Given the description of an element on the screen output the (x, y) to click on. 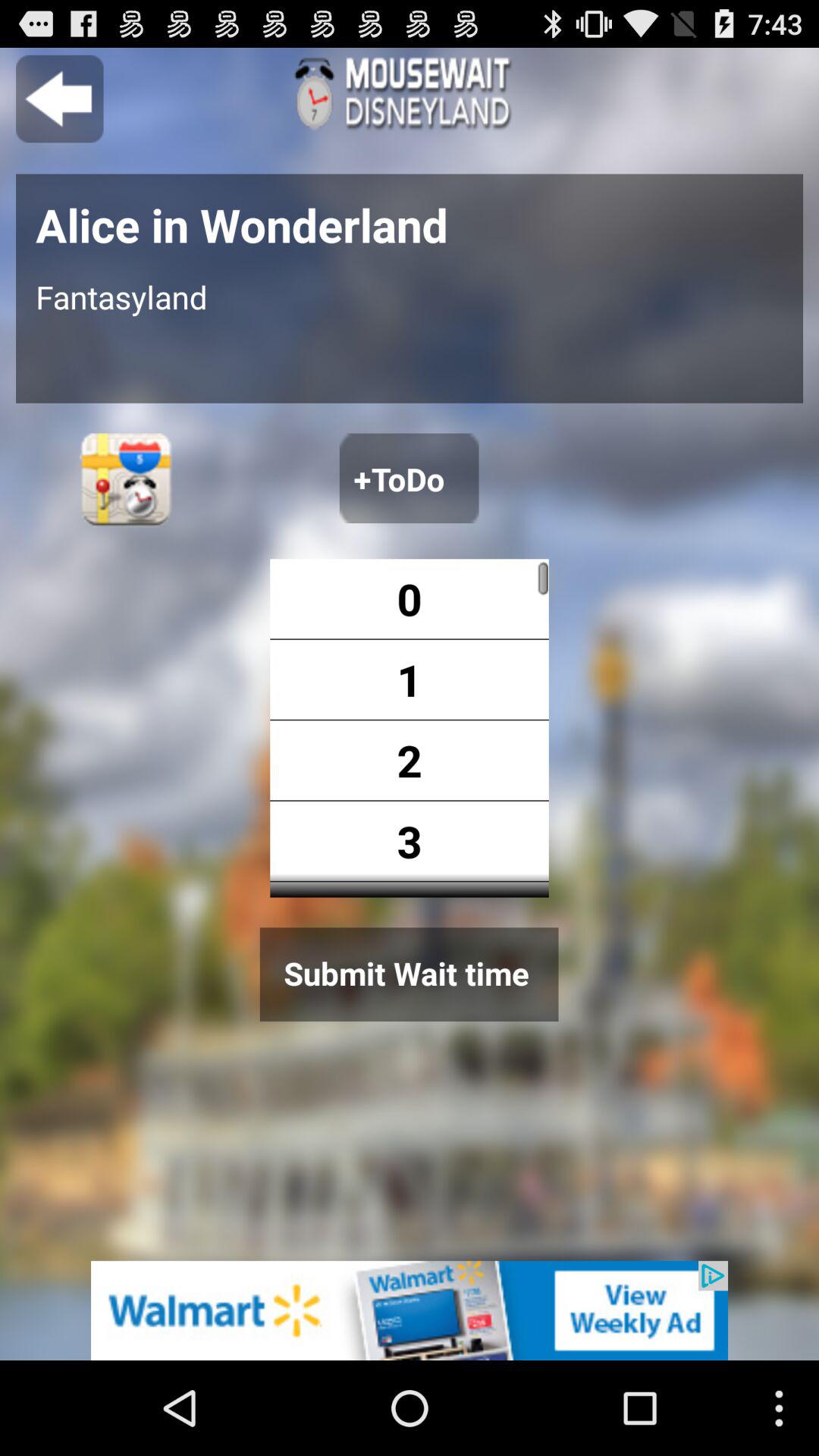
game details (409, 93)
